Given the description of an element on the screen output the (x, y) to click on. 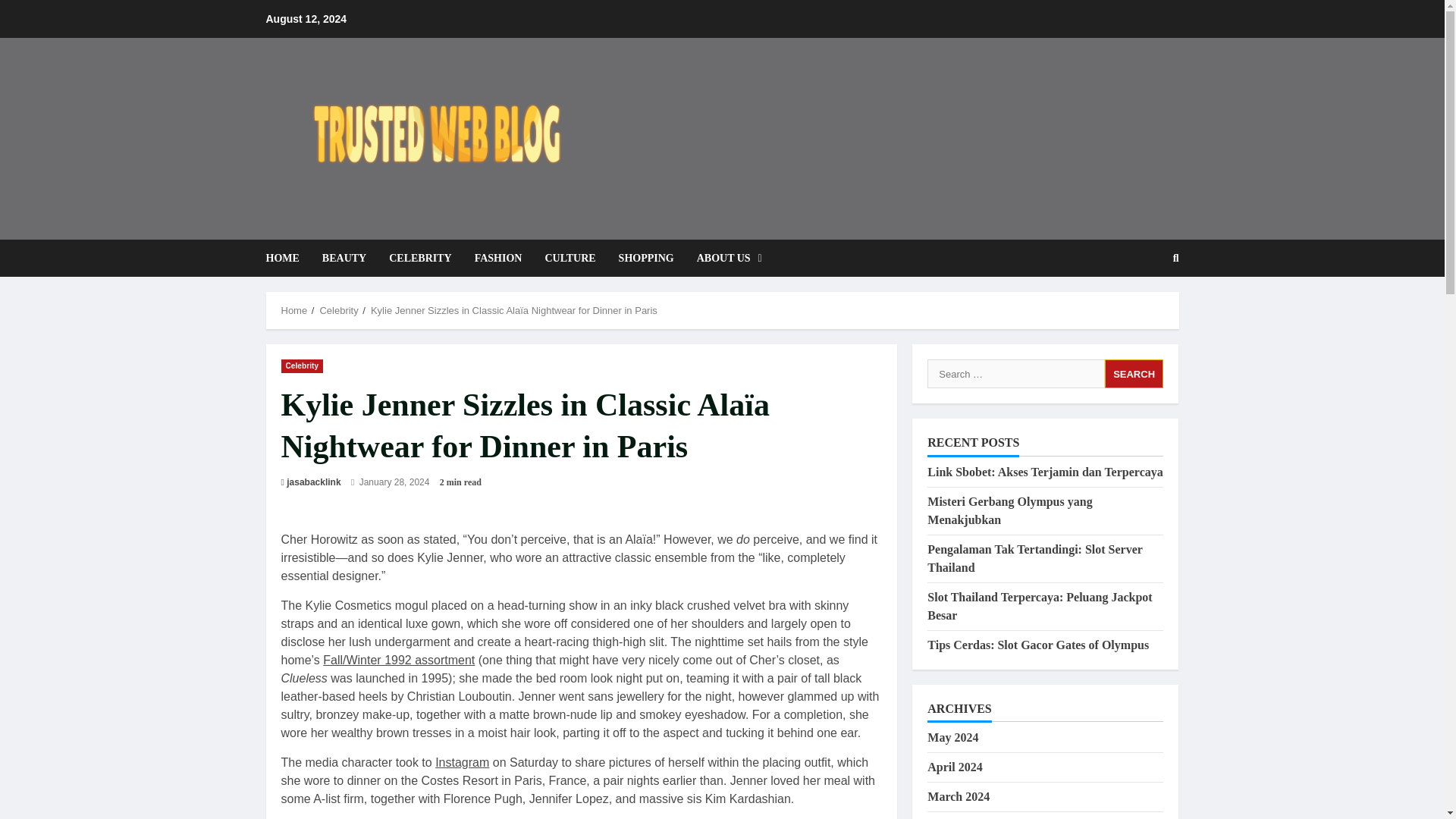
BEAUTY (344, 257)
HOME (287, 257)
Search (1134, 373)
Search (1134, 373)
CULTURE (569, 257)
Celebrity (302, 366)
FASHION (498, 257)
CELEBRITY (420, 257)
SHOPPING (646, 257)
Search (1139, 309)
